Given the description of an element on the screen output the (x, y) to click on. 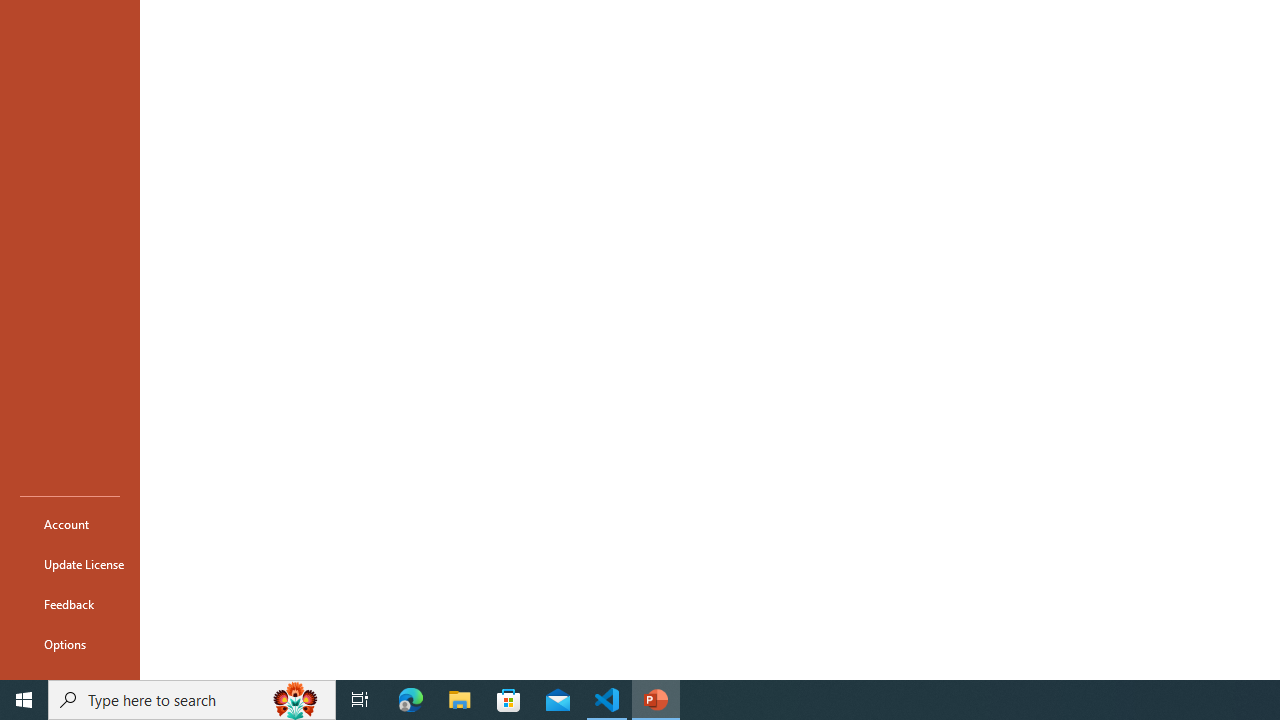
Update License (69, 563)
Options (69, 643)
Account (69, 523)
Feedback (69, 603)
